Given the description of an element on the screen output the (x, y) to click on. 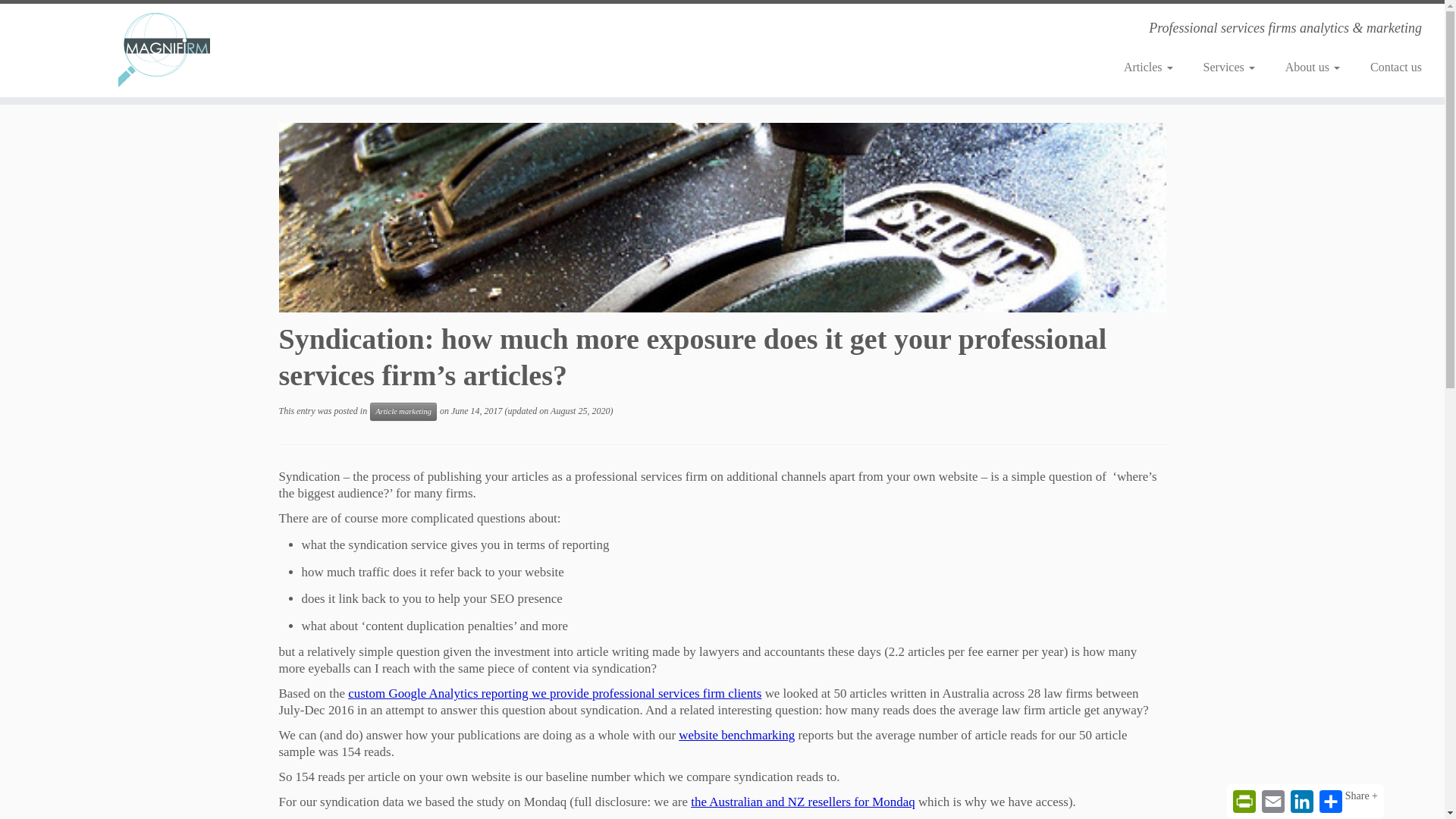
June 14, 2017 (476, 410)
LinkedIn (1301, 801)
PrintFriendly (1244, 801)
About us (1312, 67)
Article marketing (402, 411)
4:36 pm (476, 410)
Articles (1148, 67)
Services (1228, 67)
the Australian and NZ resellers for Mondaq (802, 801)
August 25, 2020 (580, 410)
website benchmarking (736, 735)
View all posts in Article marketing (402, 411)
Contact us (1388, 67)
Email (1273, 801)
